Given the description of an element on the screen output the (x, y) to click on. 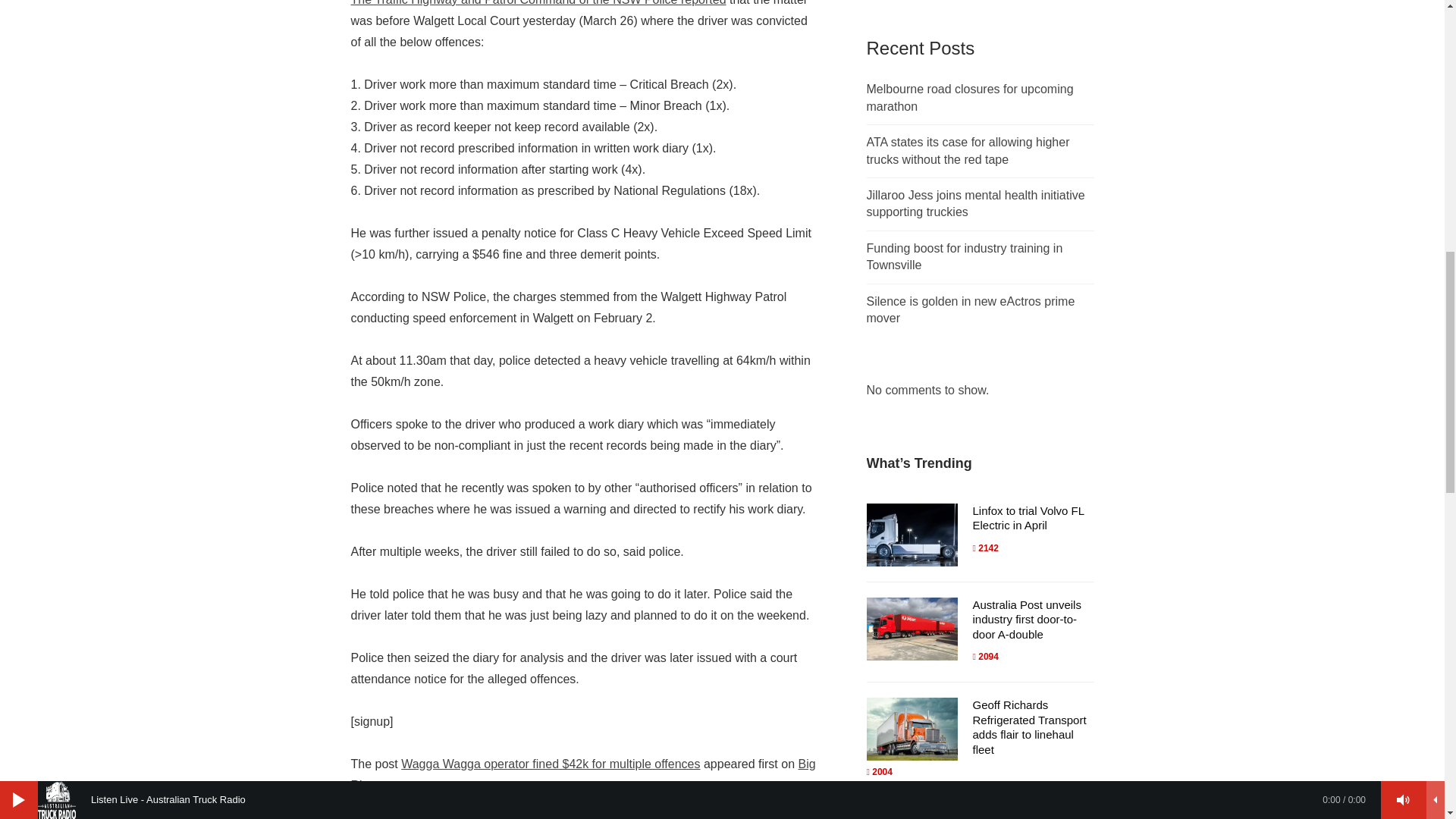
Big Rigs (582, 774)
